Given the description of an element on the screen output the (x, y) to click on. 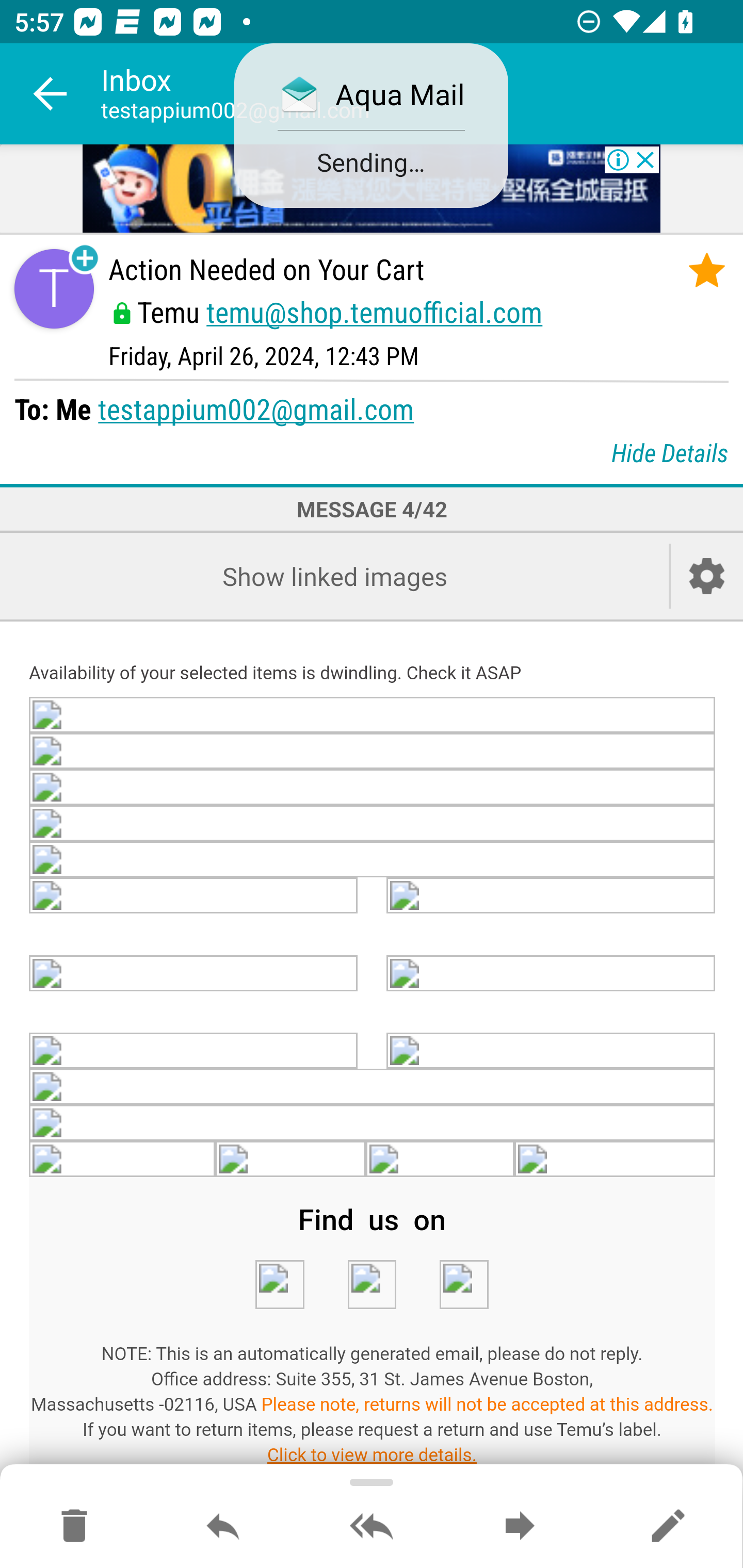
Navigate up (50, 93)
Inbox testappium002@gmail.com (422, 93)
Advertisement (371, 189)
Sender contact button (53, 289)
Show linked images (334, 576)
Account setup (706, 576)
data: (372, 714)
data: (372, 750)
data: (372, 786)
data: (372, 823)
data: (372, 860)
data: (193, 896)
data: (551, 896)
data: (193, 972)
data: (551, 972)
data: (193, 1051)
data: (551, 1051)
data: (372, 1088)
data: (372, 1124)
data: (122, 1159)
data: (289, 1159)
data: (440, 1159)
data: (614, 1159)
data: (279, 1285)
data: (371, 1285)
data: (463, 1285)
Click to view more details. (372, 1455)
Move to Deleted (74, 1527)
Reply (222, 1527)
Reply all (371, 1527)
Forward (519, 1527)
Reply as new (667, 1527)
